Given the description of an element on the screen output the (x, y) to click on. 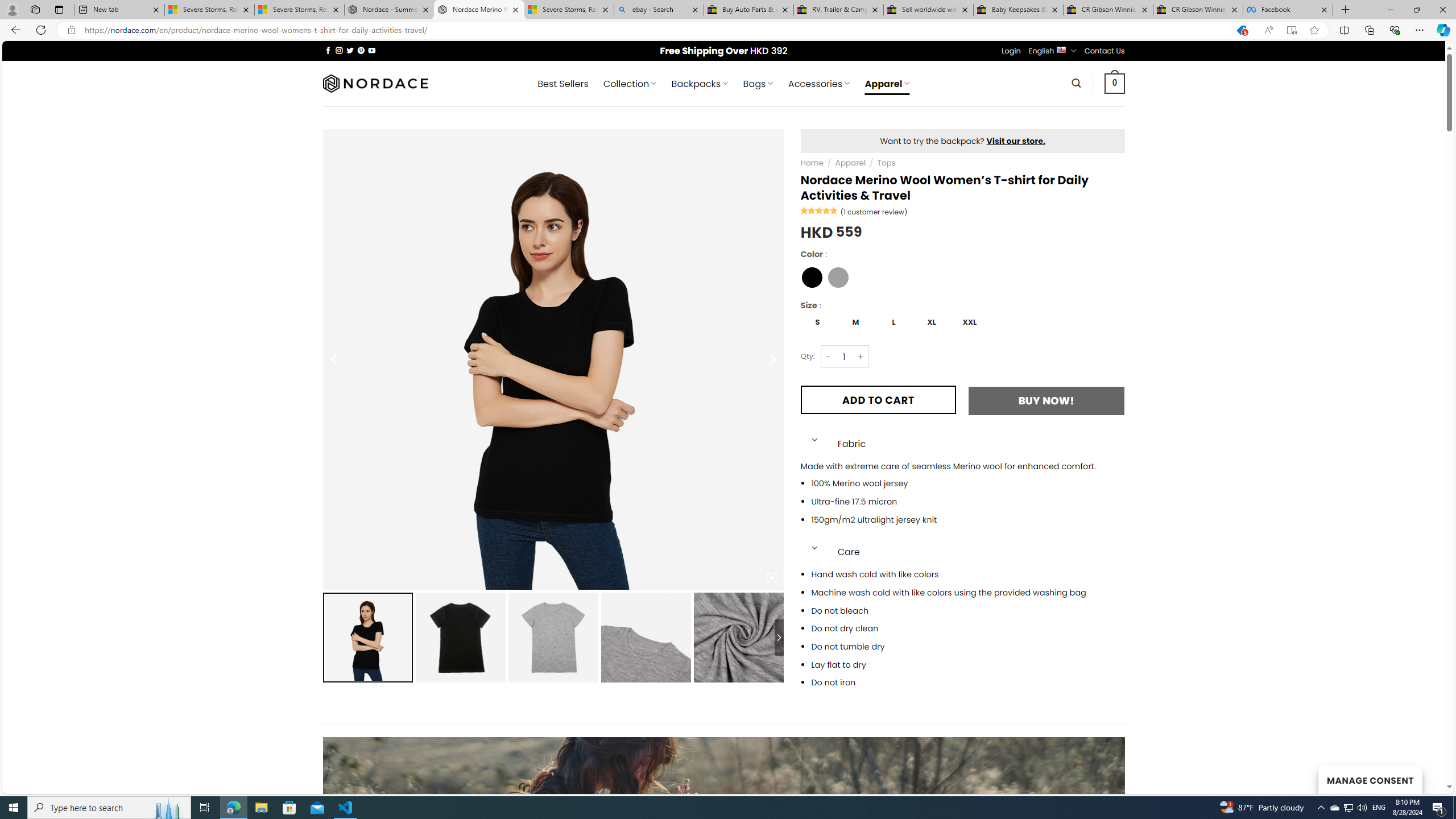
Do not dry clean (967, 628)
+ (861, 356)
Hand wash cold with like colors (967, 574)
Rated 5.00 out of 5 (819, 210)
Do not bleach (967, 610)
Lay flat to dry (967, 664)
